Given the description of an element on the screen output the (x, y) to click on. 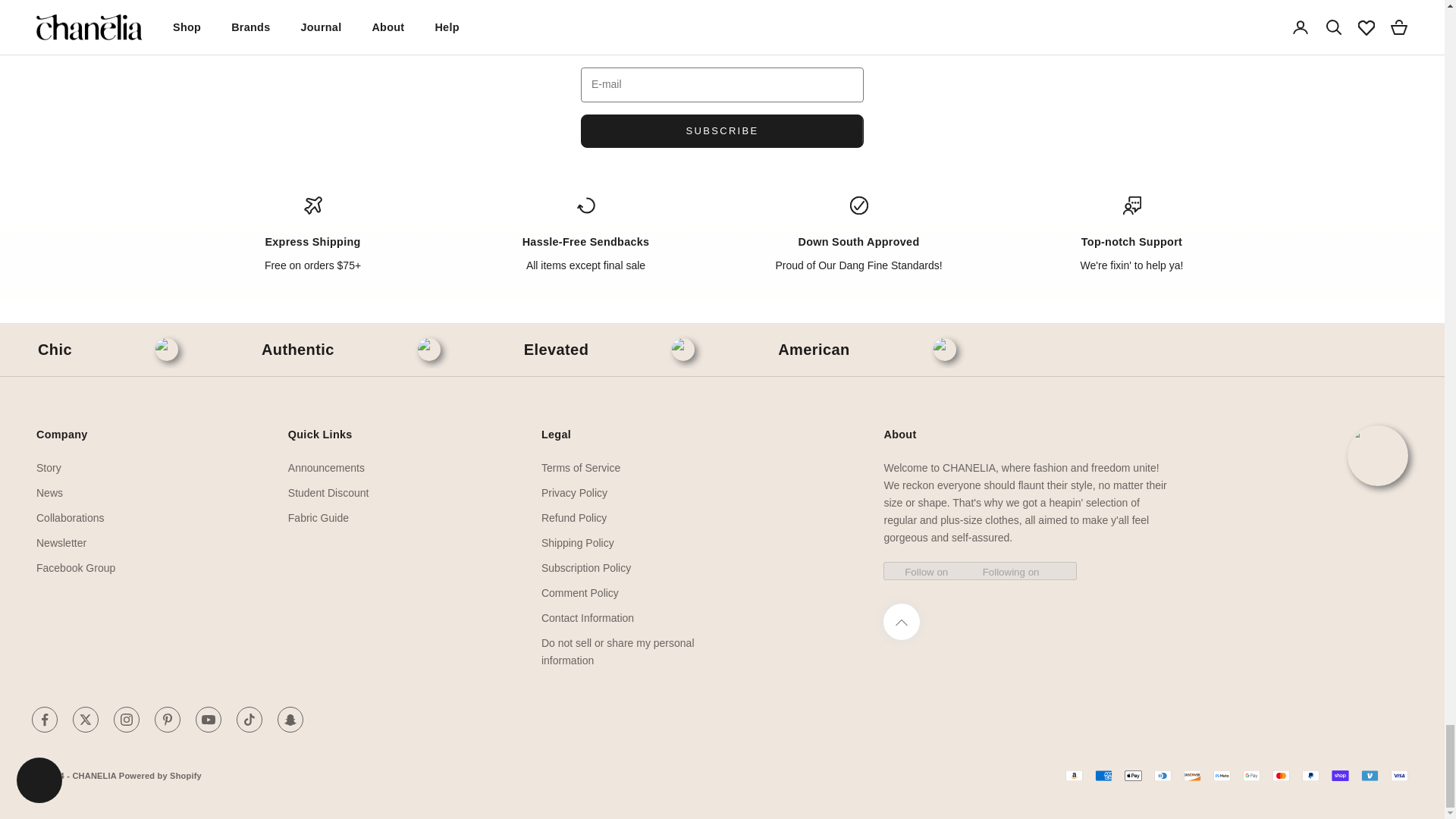
Chic (54, 349)
Elevated (556, 349)
Authentic (298, 349)
American (812, 349)
